Given the description of an element on the screen output the (x, y) to click on. 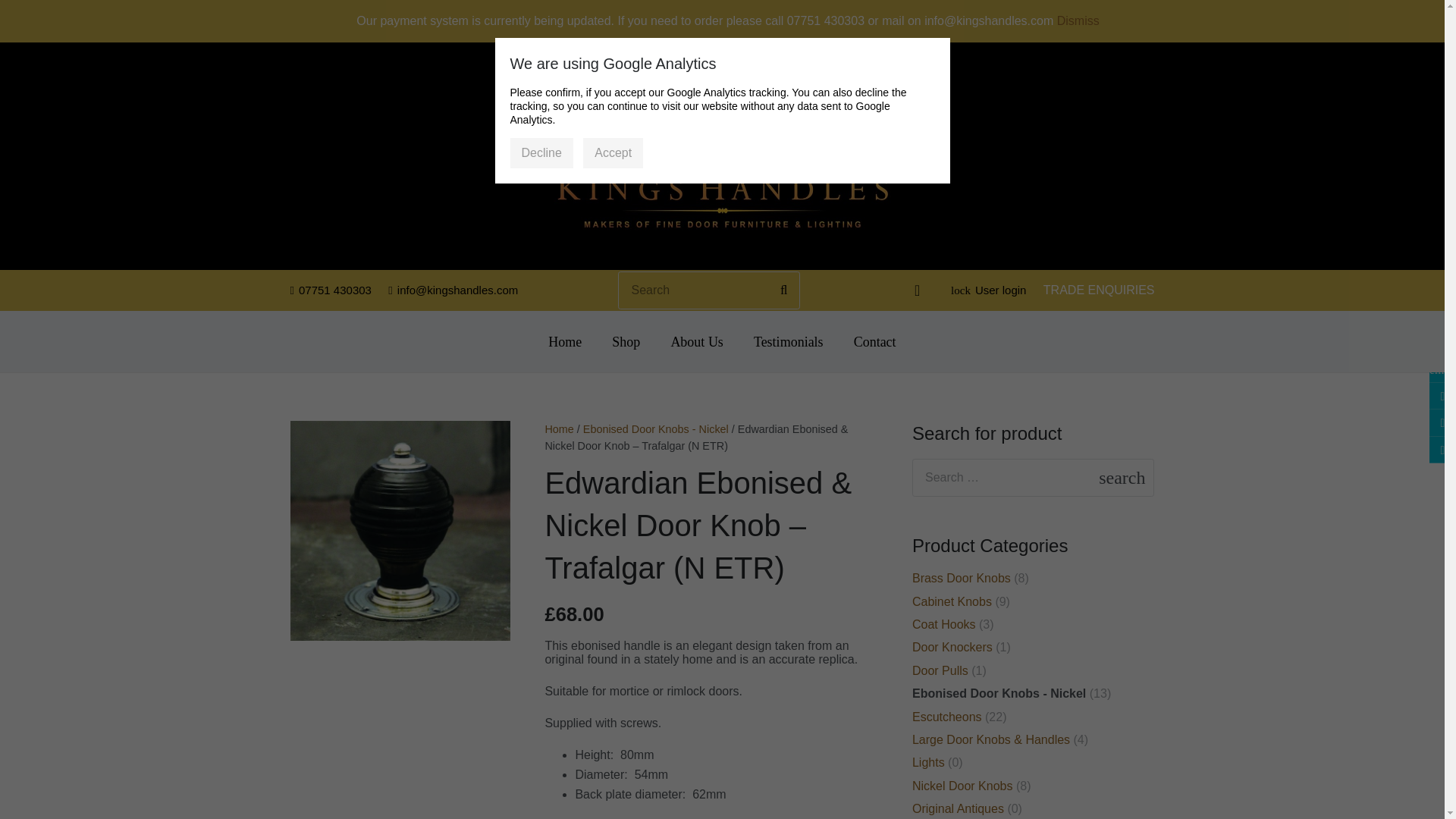
Contact (874, 341)
Cabinet Knobs (951, 601)
Search (1137, 477)
Home (558, 428)
Ebonised Door Knobs - Nickel (656, 428)
Search (1137, 477)
Door Pulls (940, 670)
Ebonised Door Knobs - Nickel (999, 693)
Lights (928, 762)
Escutcheons (946, 716)
Home (564, 341)
Search (1137, 477)
Original Antiques (958, 808)
Testimonials (788, 341)
TRADE ENQUIRIES (1098, 289)
